Given the description of an element on the screen output the (x, y) to click on. 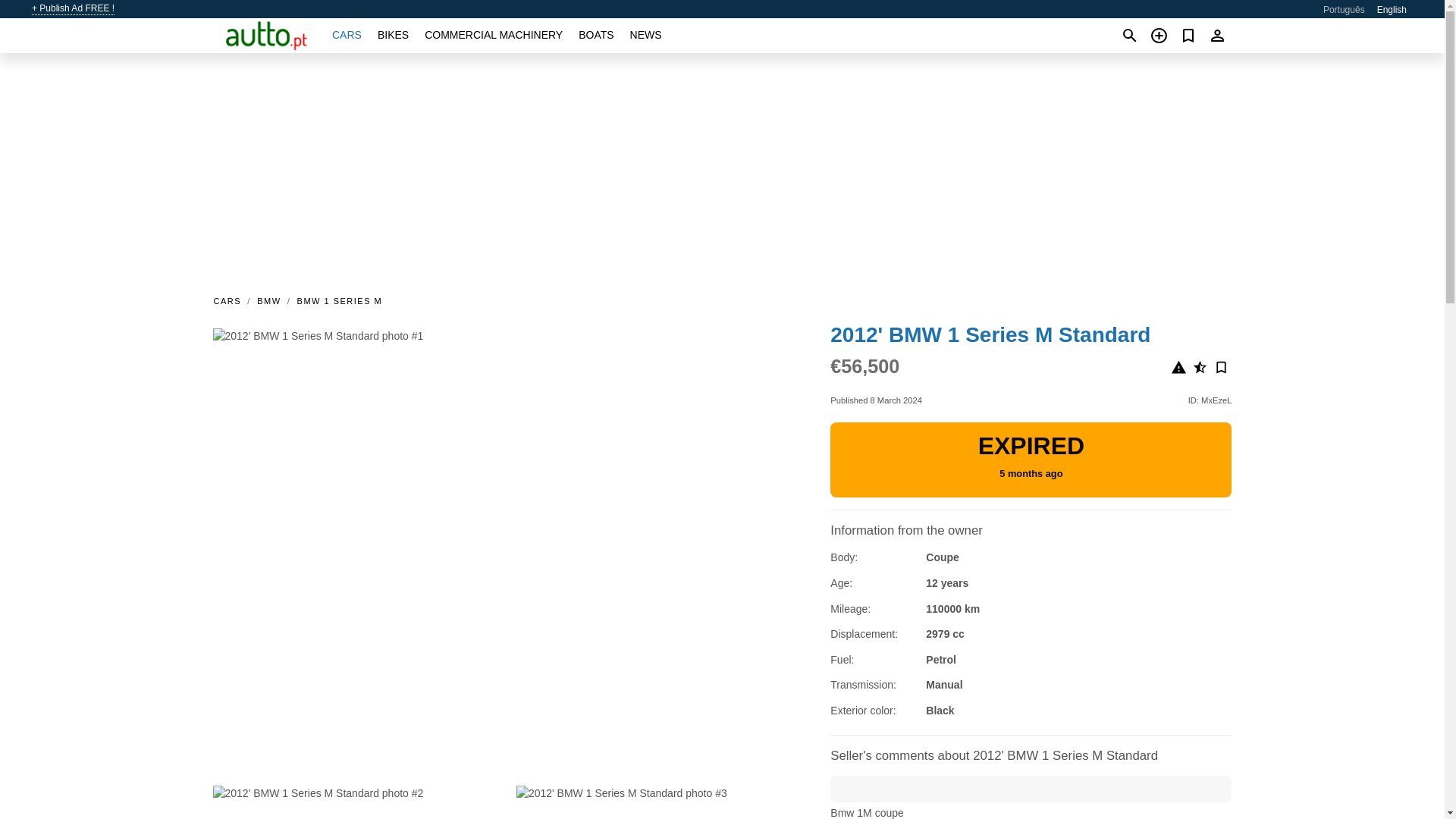
BIKES (393, 35)
CARS (346, 35)
BMW (268, 300)
BOATS (595, 35)
CARS (230, 300)
COMMERCIAL MACHINERY (493, 35)
NEWS (646, 35)
